Given the description of an element on the screen output the (x, y) to click on. 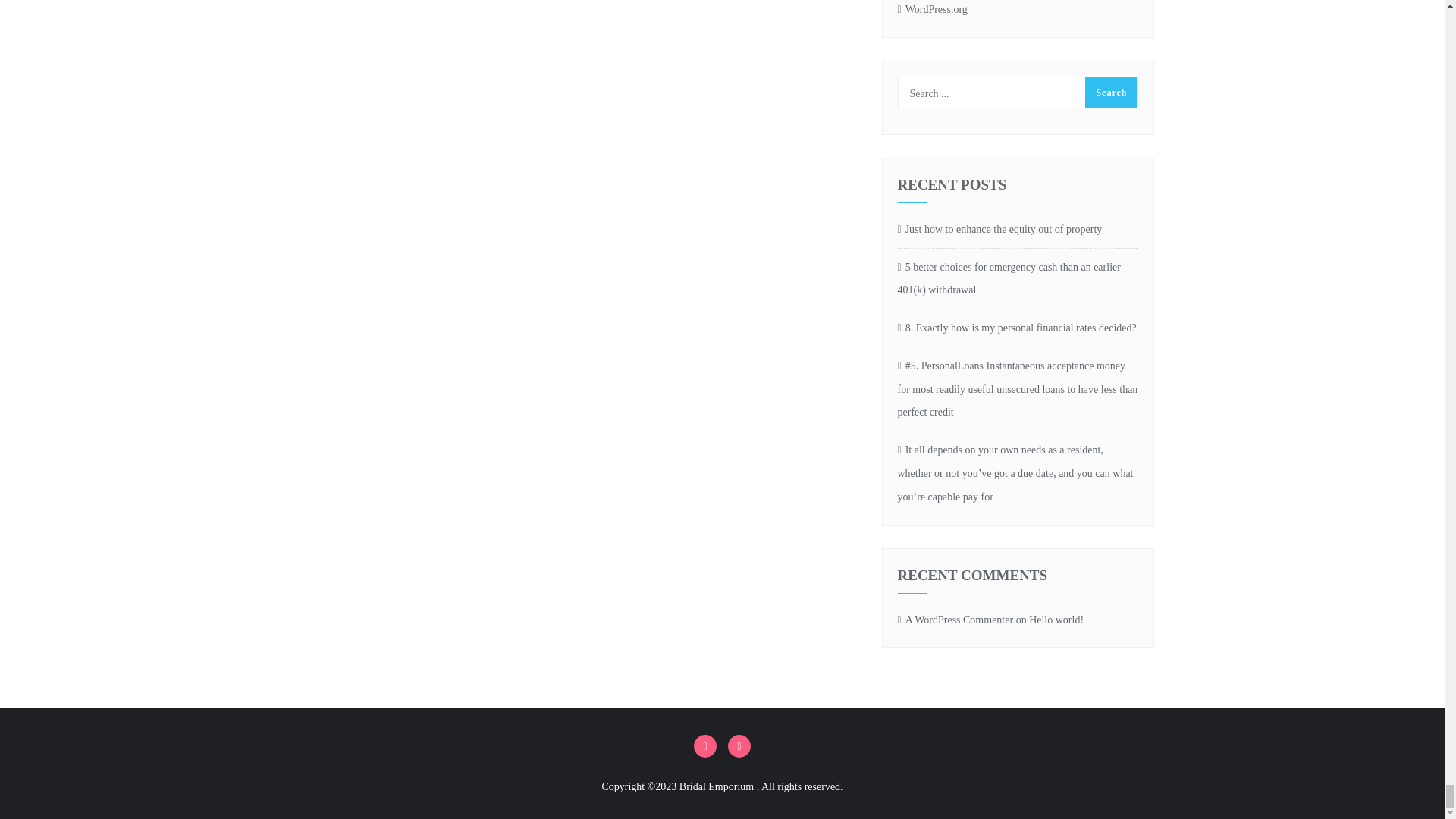
Search (1110, 91)
Search (1110, 91)
